Given the description of an element on the screen output the (x, y) to click on. 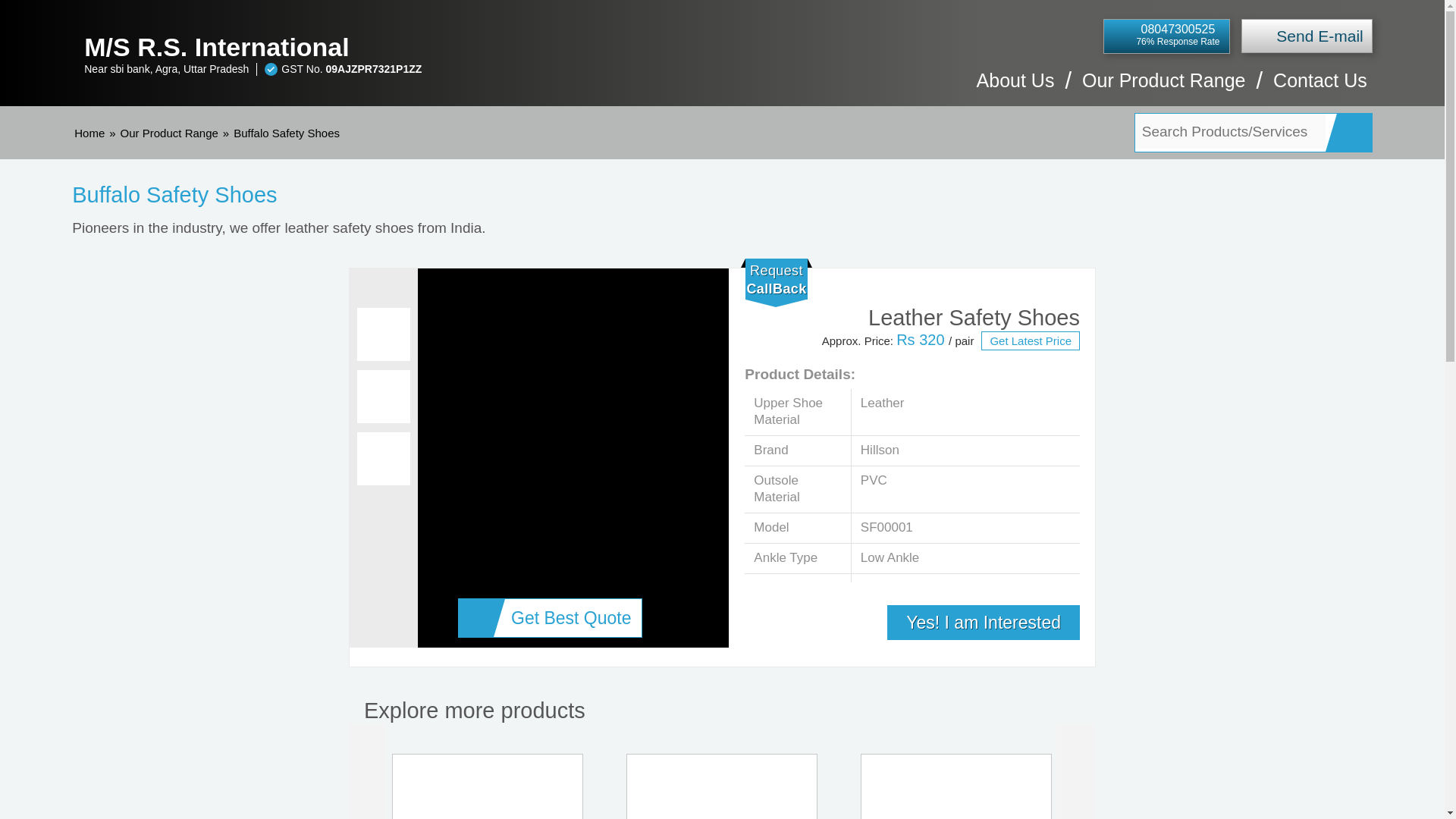
Our Product Range (169, 132)
Contact Us (1319, 88)
About Us (1015, 88)
Home (89, 132)
Our Product Range (1162, 88)
